Given the description of an element on the screen output the (x, y) to click on. 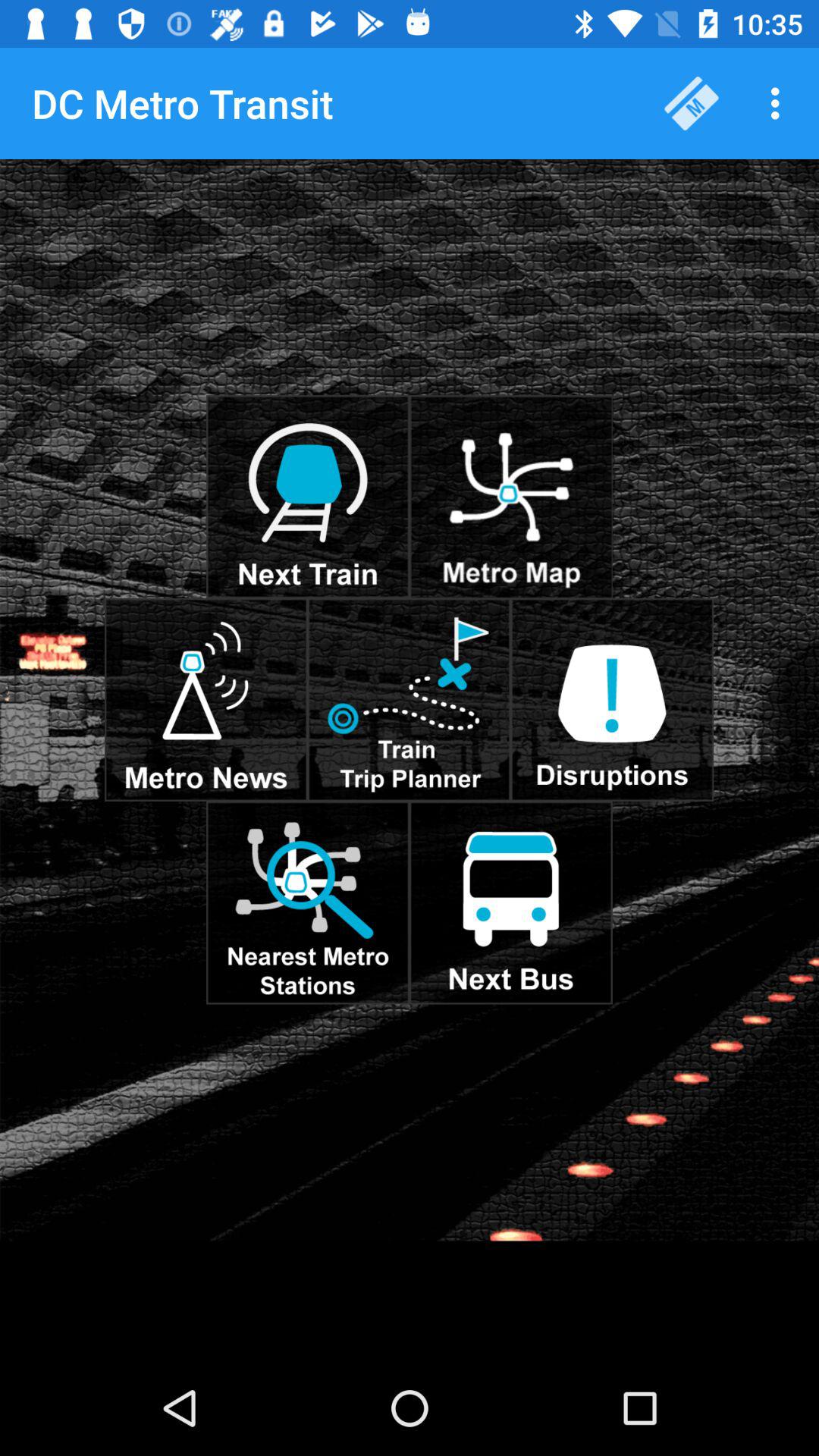
go to previous (510, 496)
